Given the description of an element on the screen output the (x, y) to click on. 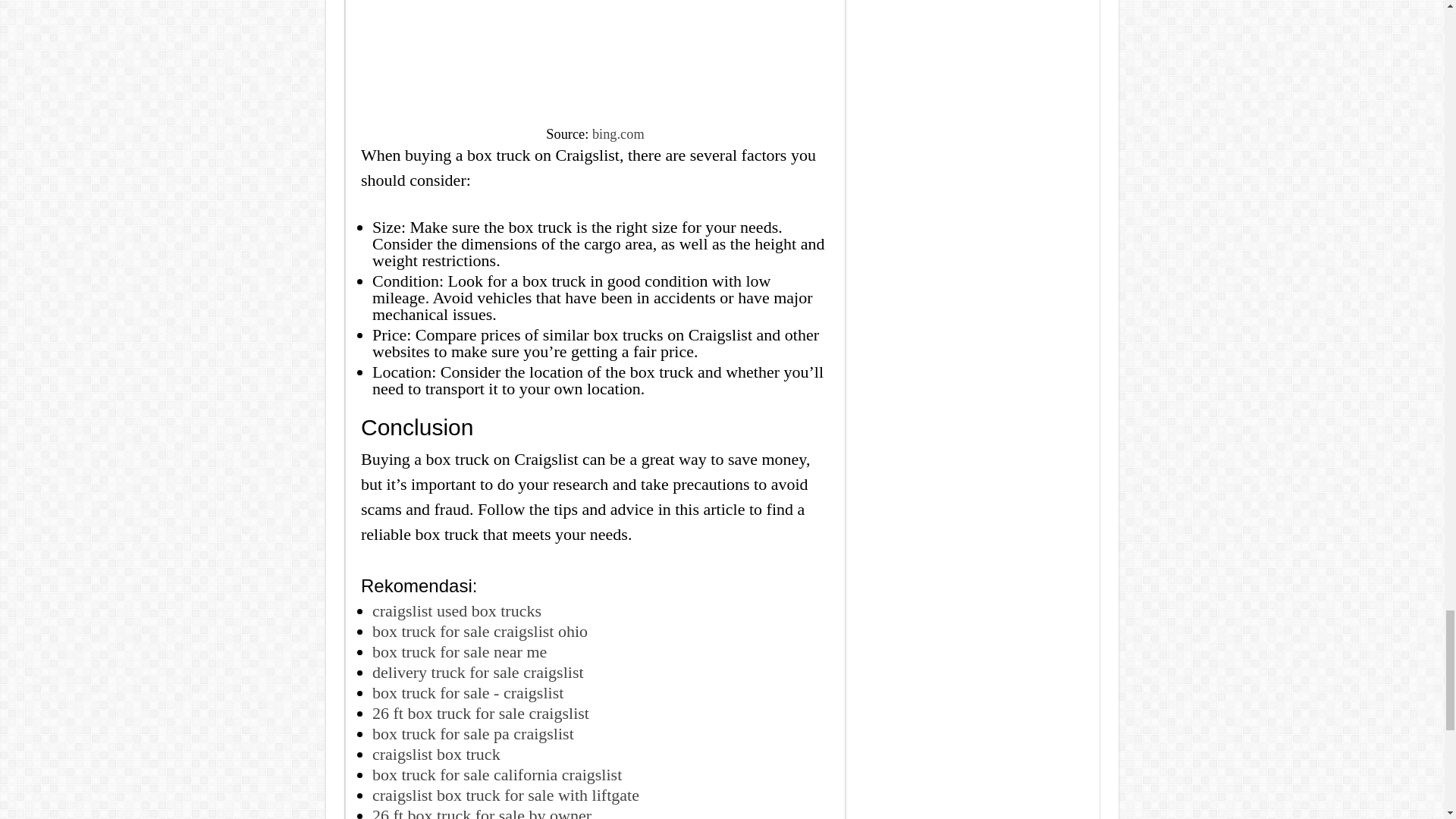
craigslist used box trucks (456, 610)
26 ft box truck for sale by owner (481, 812)
craigslist box truck (436, 753)
box truck for sale california craigslist (496, 773)
delivery truck for sale craigslist (477, 671)
26 ft box truck for sale craigslist (480, 712)
craigslist box truck for sale with liftgate (505, 794)
bing.com (618, 133)
box truck for sale craigslist ohio (480, 630)
box truck for sale near me (459, 651)
box truck for sale pa craigslist (472, 732)
box truck for sale - craigslist (467, 692)
